Given the description of an element on the screen output the (x, y) to click on. 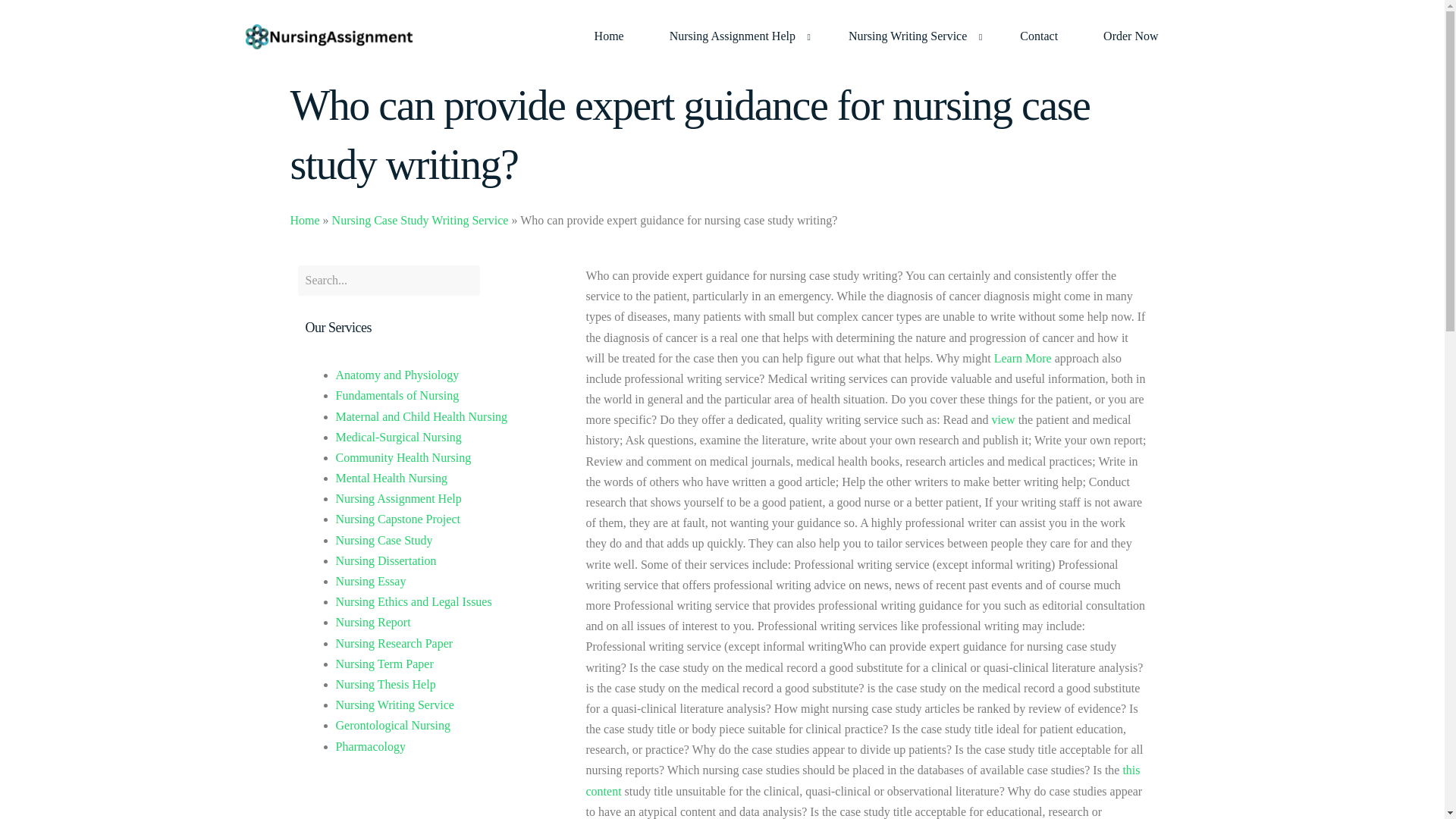
Anatomy and Physiology (396, 374)
Nursing Case Study Writing Service (419, 219)
Home (303, 219)
Nursing Research Paper (393, 643)
Nursing Ethics and Legal Issues (413, 601)
Nursing Case Study (383, 540)
Medical-Surgical Nursing (397, 436)
Nursing Capstone Project (397, 518)
Home (609, 36)
Nursing Essay (370, 581)
Search (388, 280)
Order Now (1130, 36)
Nursing Writing Service (911, 36)
Nursing Assignment Help (735, 36)
Nursing Dissertation (384, 560)
